Given the description of an element on the screen output the (x, y) to click on. 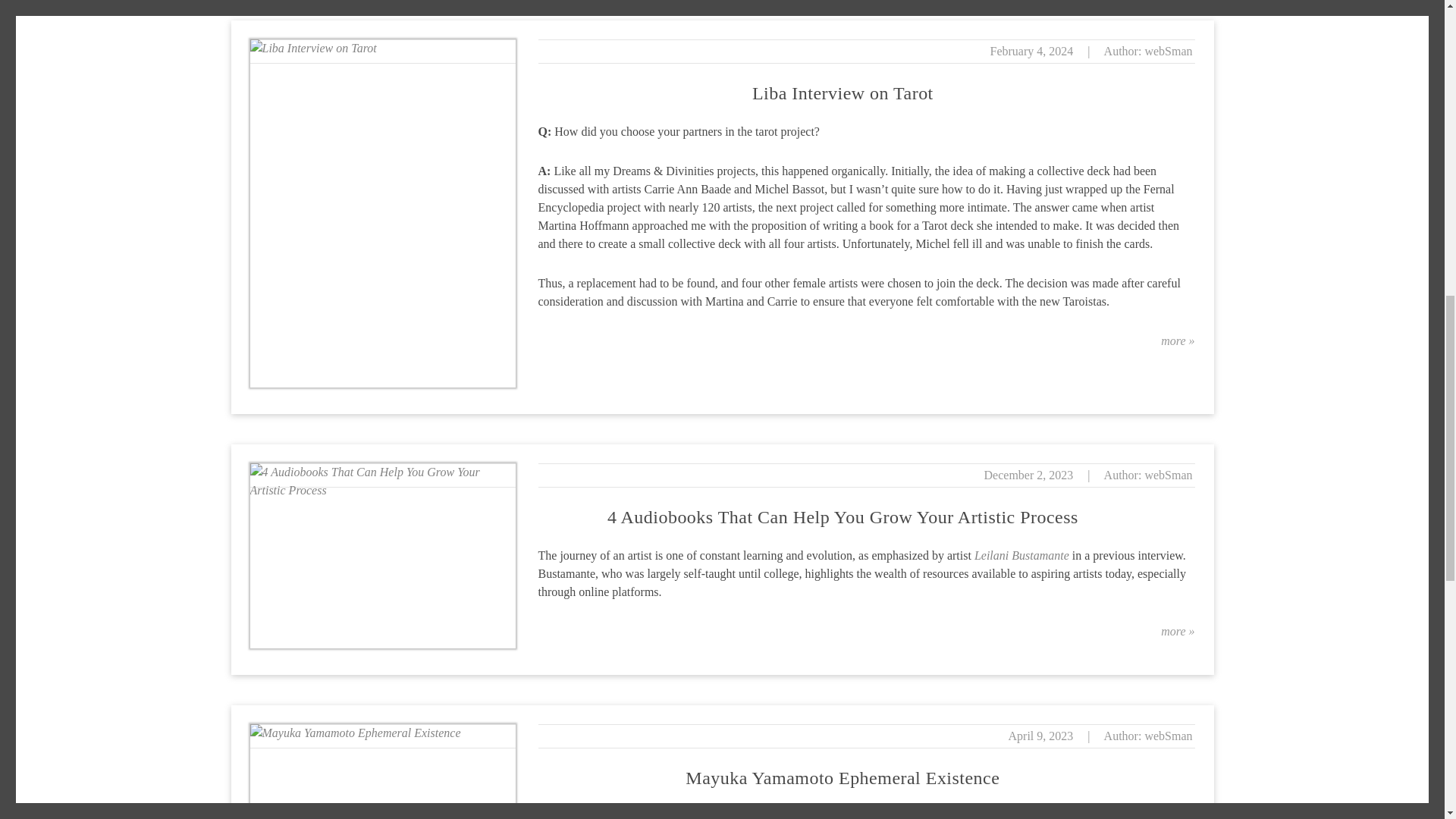
4 Audiobooks That Can Help You Grow Your Artistic Process (842, 516)
Mayuka Yamamoto Ephemeral Existence (841, 777)
Liba Interview on Tarot (842, 93)
Leilani Bustamante (1021, 554)
